Given the description of an element on the screen output the (x, y) to click on. 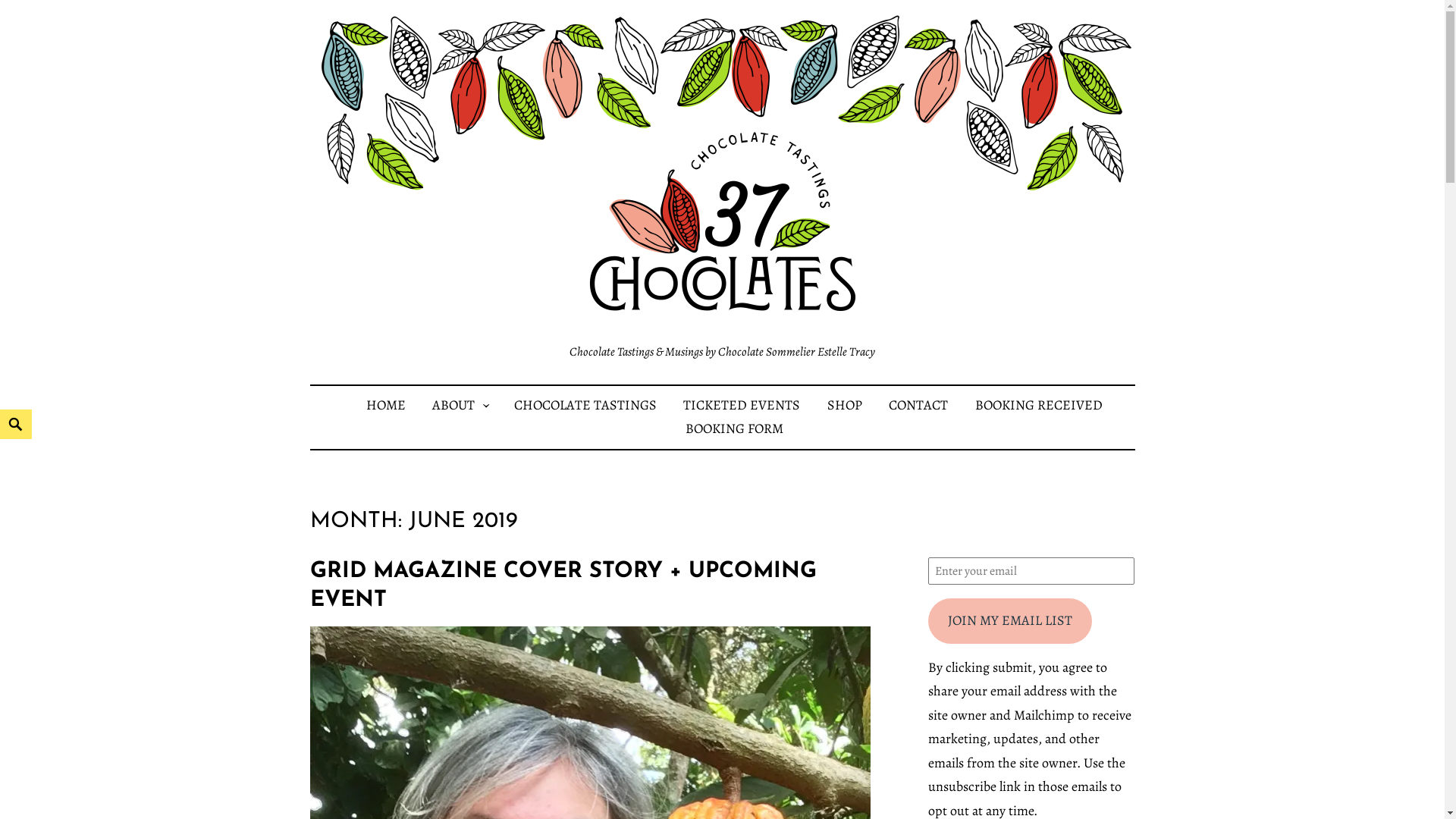
Search Element type: text (19, 9)
BOOKING RECEIVED Element type: text (1038, 404)
ABOUT Element type: text (453, 404)
JOIN MY EMAIL LIST Element type: text (1010, 620)
BOOKING FORM Element type: text (734, 428)
GRID MAGAZINE COVER STORY + UPCOMING EVENT Element type: text (562, 585)
CONTACT Element type: text (917, 404)
TICKETED EVENTS Element type: text (741, 404)
CHOCOLATE TASTINGS Element type: text (585, 404)
Enter your email Element type: hover (1031, 570)
SHOP Element type: text (844, 404)
Search Element type: text (3, 408)
HOME Element type: text (385, 404)
